Given the description of an element on the screen output the (x, y) to click on. 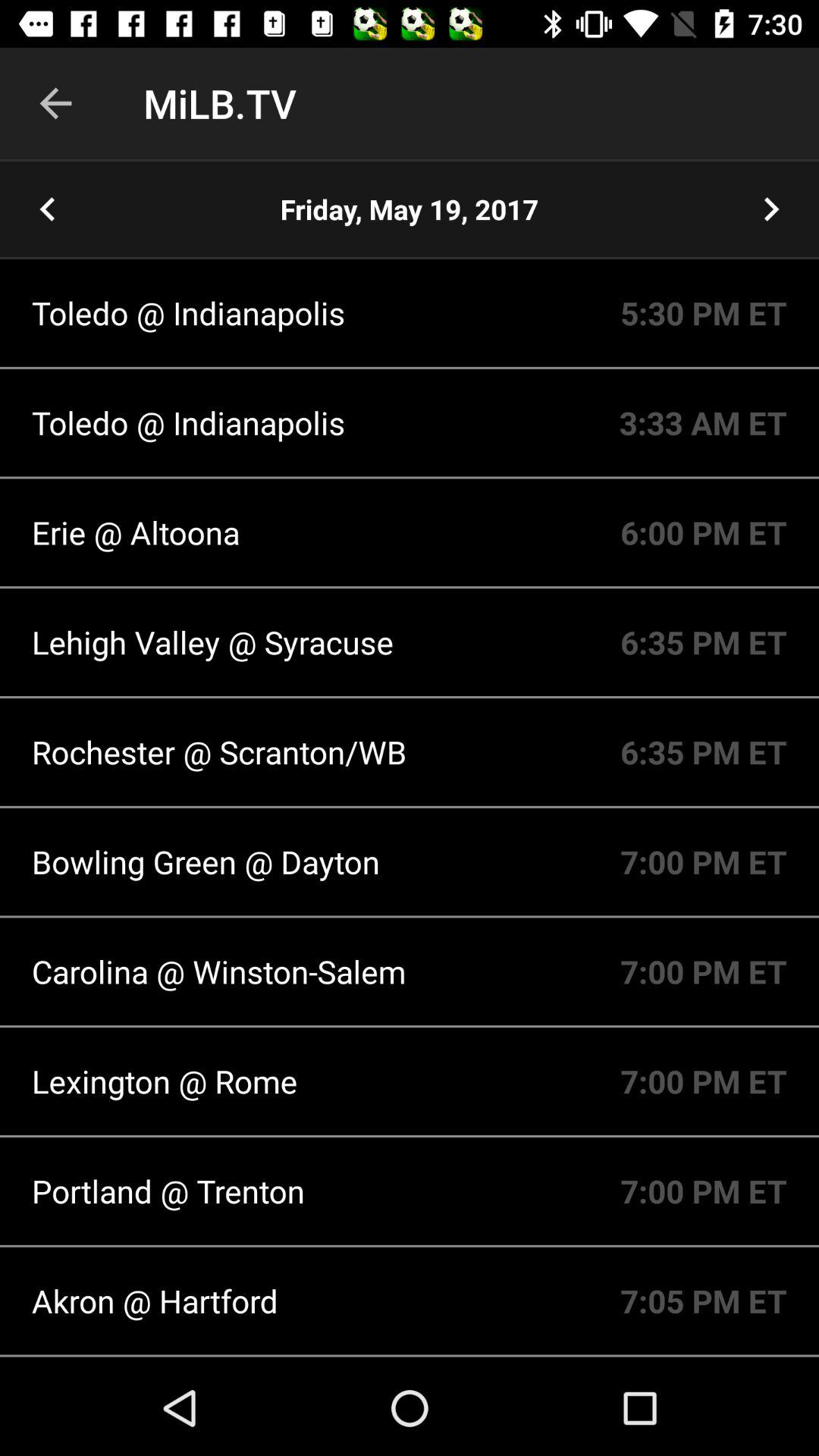
turn on the icon to the left of the milb.tv (55, 103)
